Given the description of an element on the screen output the (x, y) to click on. 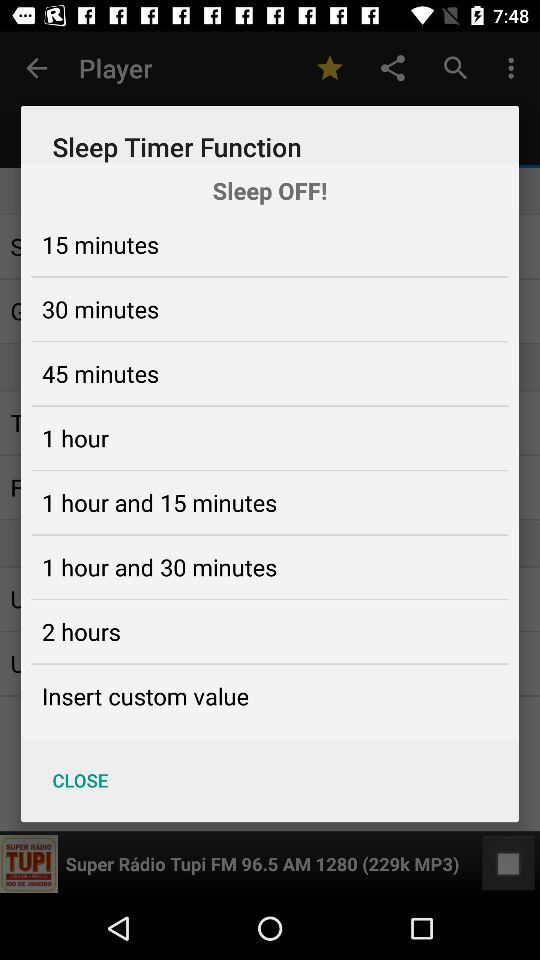
click the 2 hours icon (81, 631)
